Given the description of an element on the screen output the (x, y) to click on. 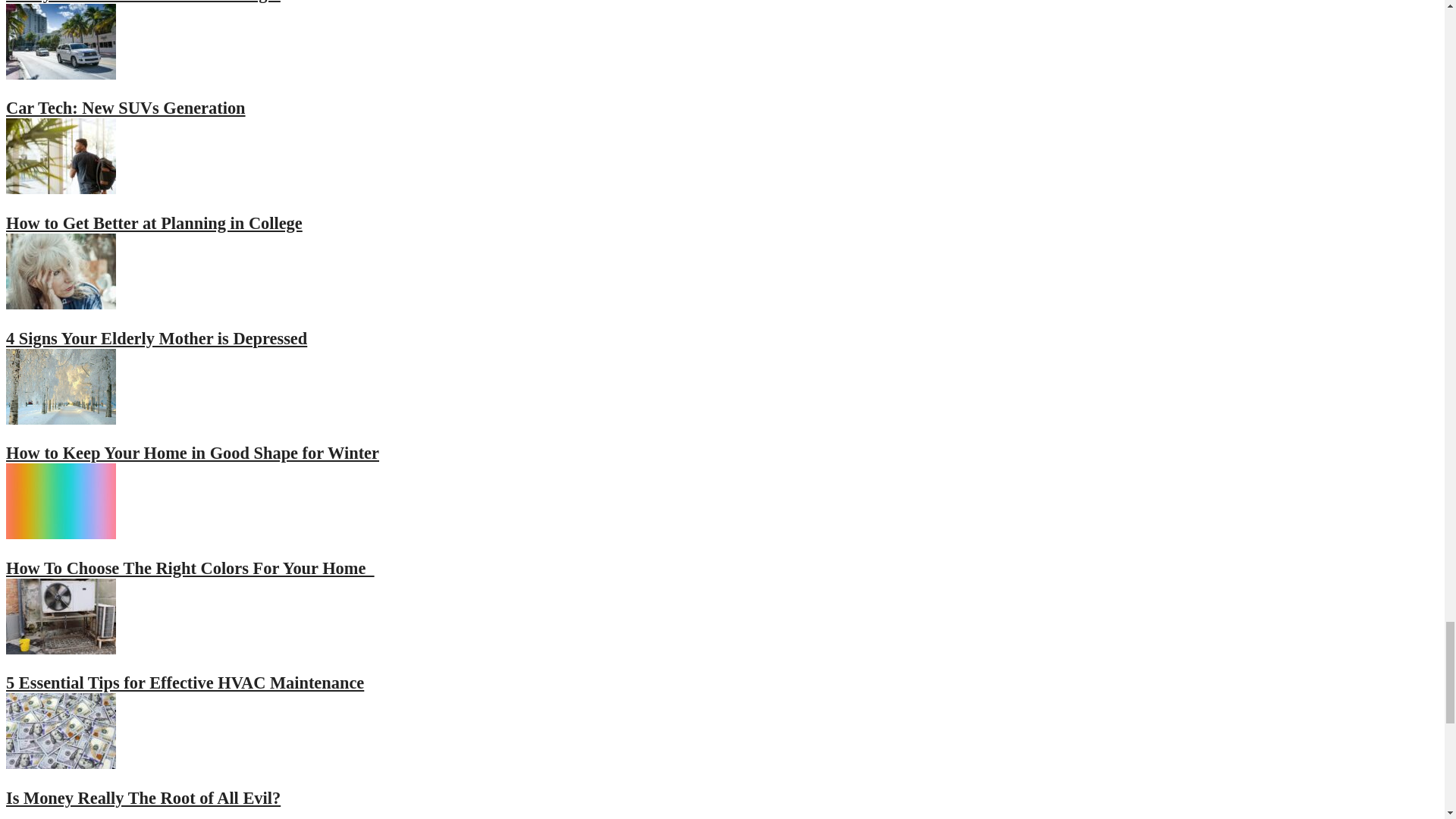
How to Get Better at Planning in College (153, 222)
Car Tech: New SUVs Generation (125, 107)
Car Tech: New SUVs Generation (60, 73)
5 Ways To Eat Healthier On A Budget (143, 1)
How to Get Better at Planning in College (60, 187)
Car Tech: New SUVs Generation (125, 107)
4 Signs Your Elderly Mother is Depressed (60, 302)
4 Signs Your Elderly Mother is Depressed (156, 338)
5 Ways To Eat Healthier On A Budget (143, 1)
How to Keep Your Home in Good Shape for Winter (60, 418)
